Given the description of an element on the screen output the (x, y) to click on. 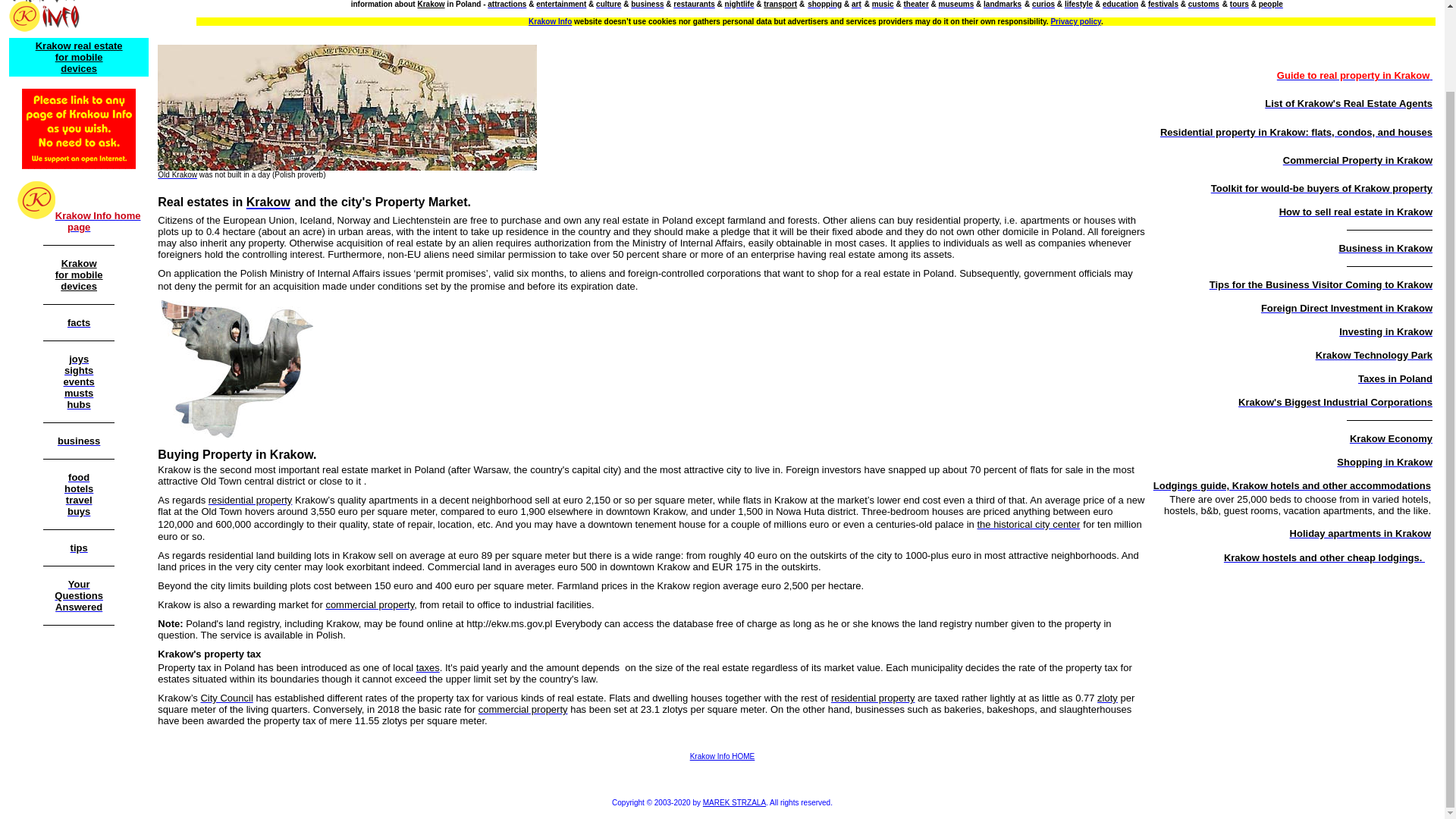
Panorama of Krakow in the 17th century (347, 107)
customs (1204, 4)
museums (956, 4)
landmarks (1003, 4)
lifestyle (1078, 4)
events (79, 380)
music (882, 4)
art (856, 4)
Krakow Info (550, 21)
joys (78, 358)
